Given the description of an element on the screen output the (x, y) to click on. 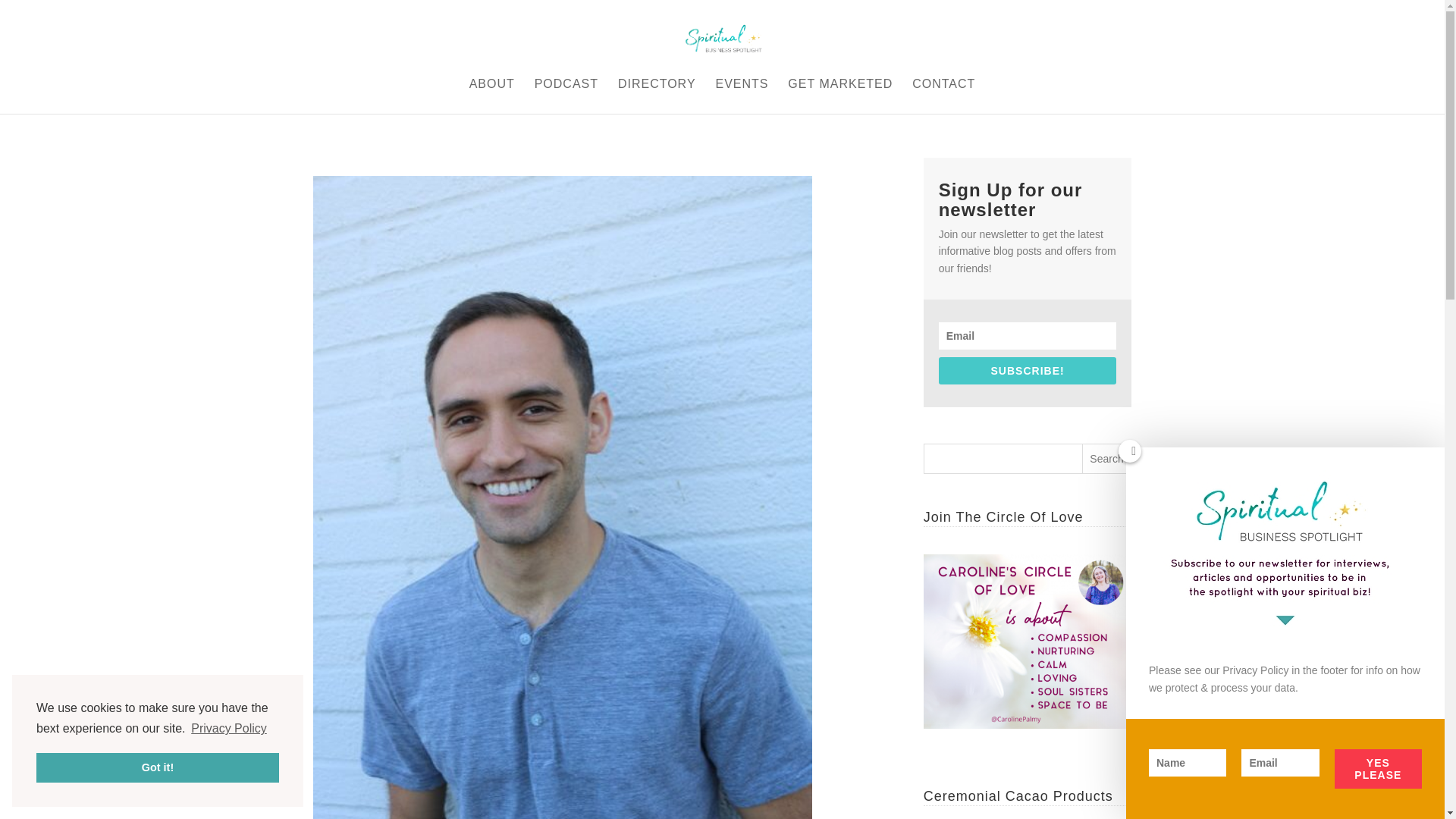
GET MARKETED (839, 95)
Privacy Policy (229, 728)
PODCAST (566, 95)
YES PLEASE (1378, 768)
ABOUT (491, 95)
Search (1106, 458)
EVENTS (741, 95)
Search (1106, 458)
SUBSCRIBE! (1027, 370)
CONTACT (943, 95)
DIRECTORY (656, 95)
Got it! (157, 767)
